Given the description of an element on the screen output the (x, y) to click on. 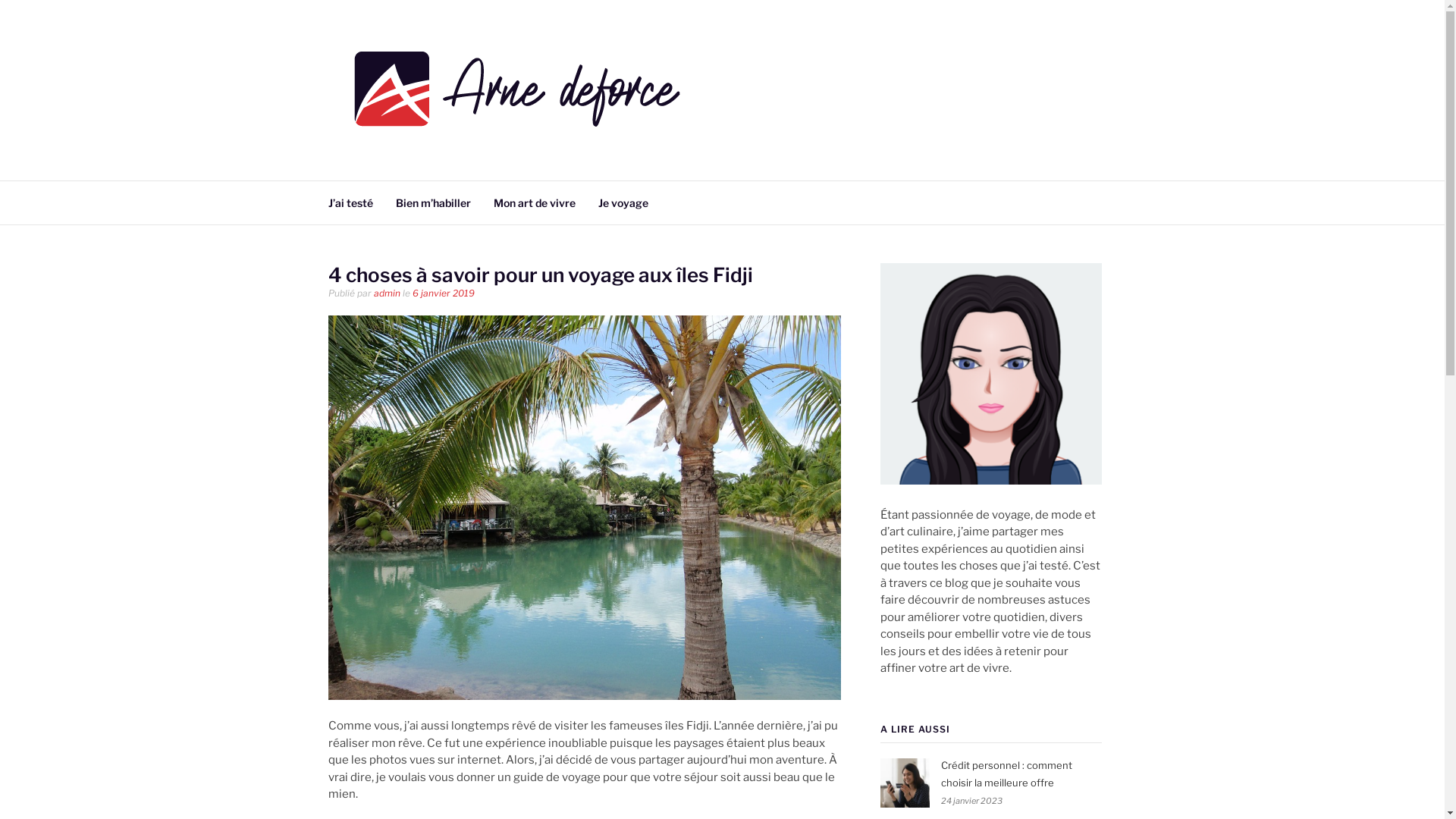
admin Element type: text (386, 292)
ARNE DEFORCE Element type: text (443, 160)
6 janvier 2019 Element type: text (443, 292)
Je voyage Element type: text (622, 201)
Mon art de vivre Element type: text (533, 201)
